Given the description of an element on the screen output the (x, y) to click on. 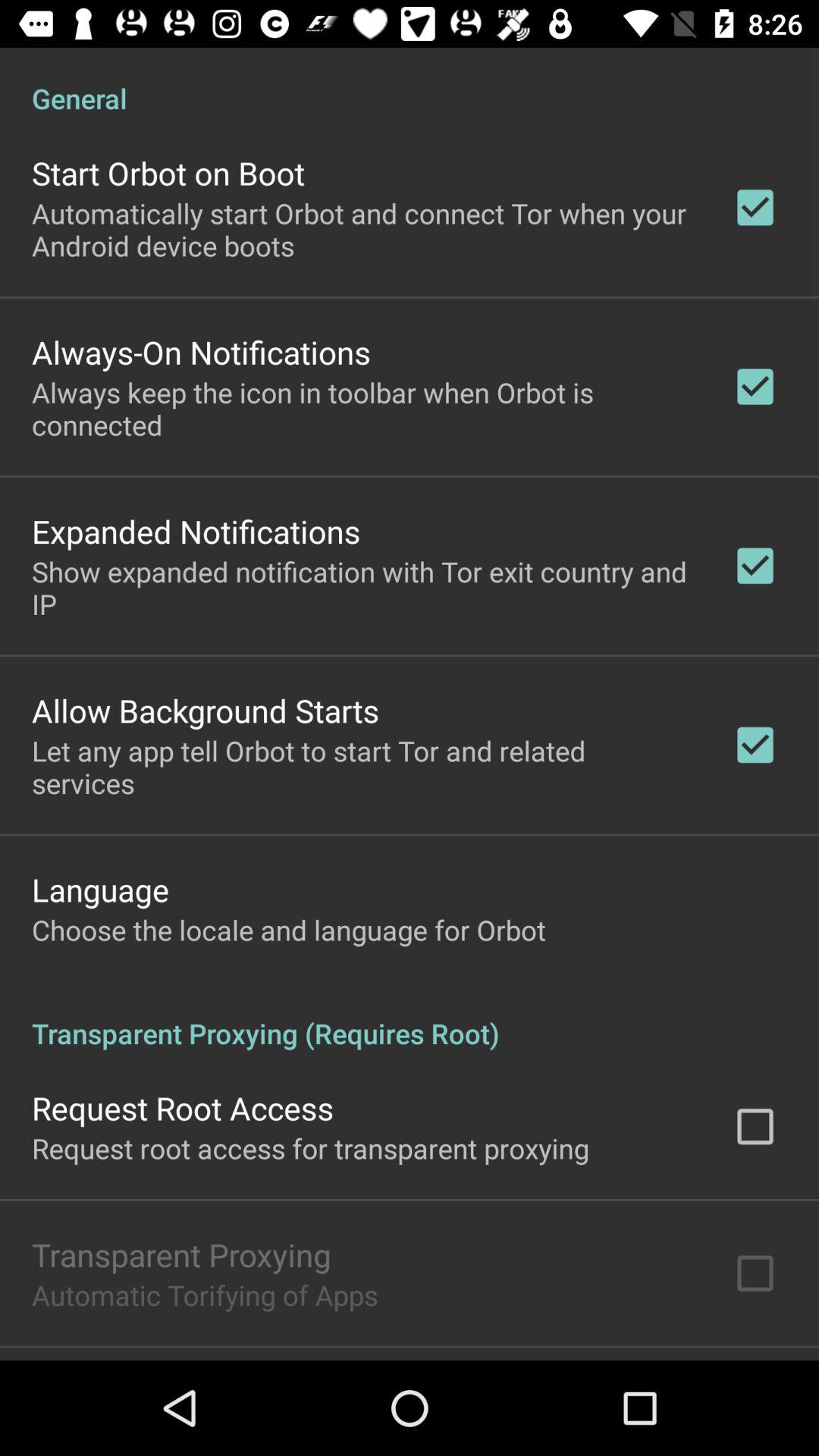
press item below language (288, 929)
